Given the description of an element on the screen output the (x, y) to click on. 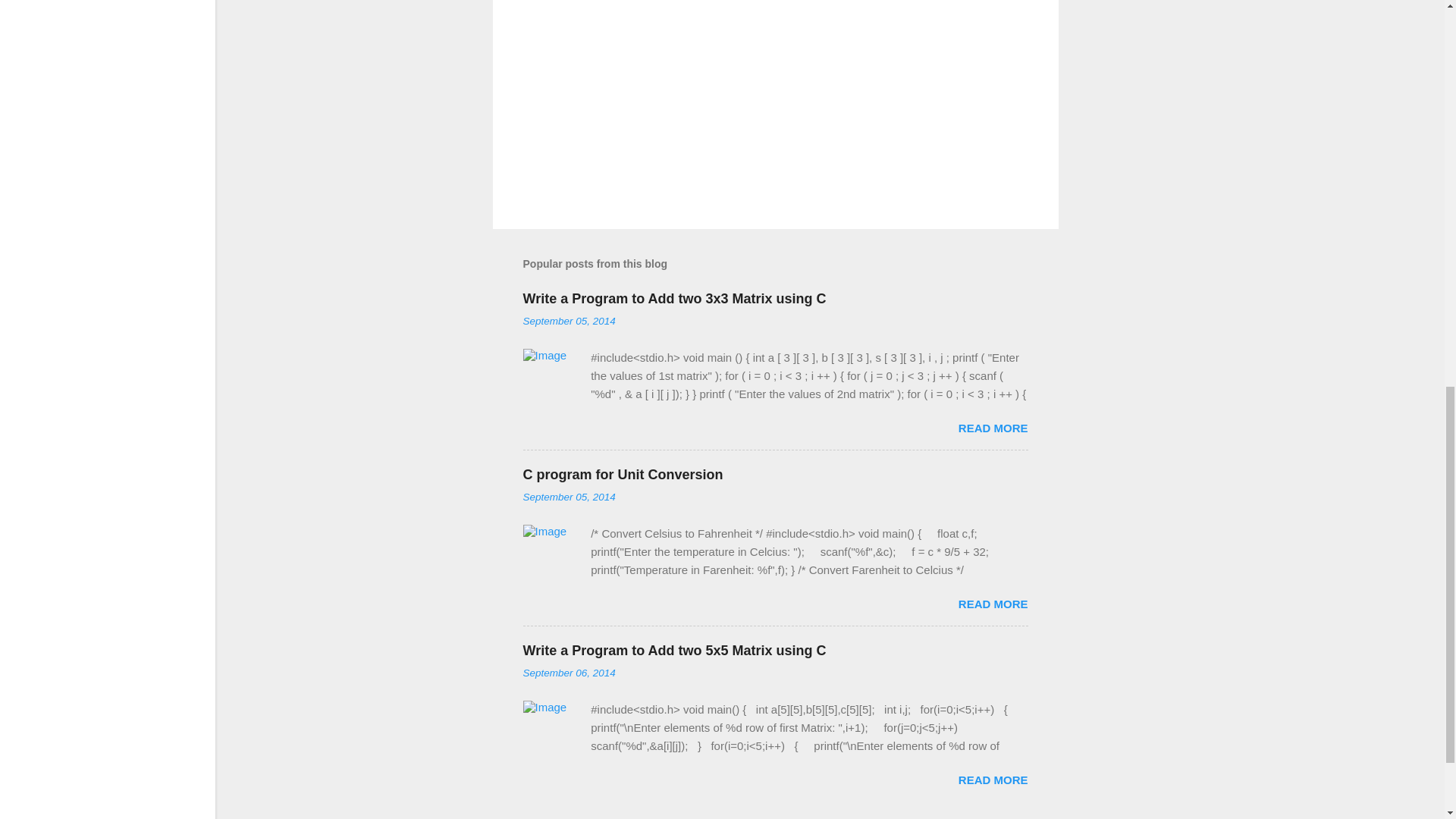
September 05, 2014 (568, 320)
Write a Program to Add two 3x3 Matrix using C (674, 298)
C program for Unit Conversion (622, 474)
READ MORE (992, 427)
READ MORE (992, 779)
Write a Program to Add two 5x5 Matrix using C (674, 650)
READ MORE (992, 603)
September 05, 2014 (568, 496)
September 06, 2014 (568, 672)
